Given the description of an element on the screen output the (x, y) to click on. 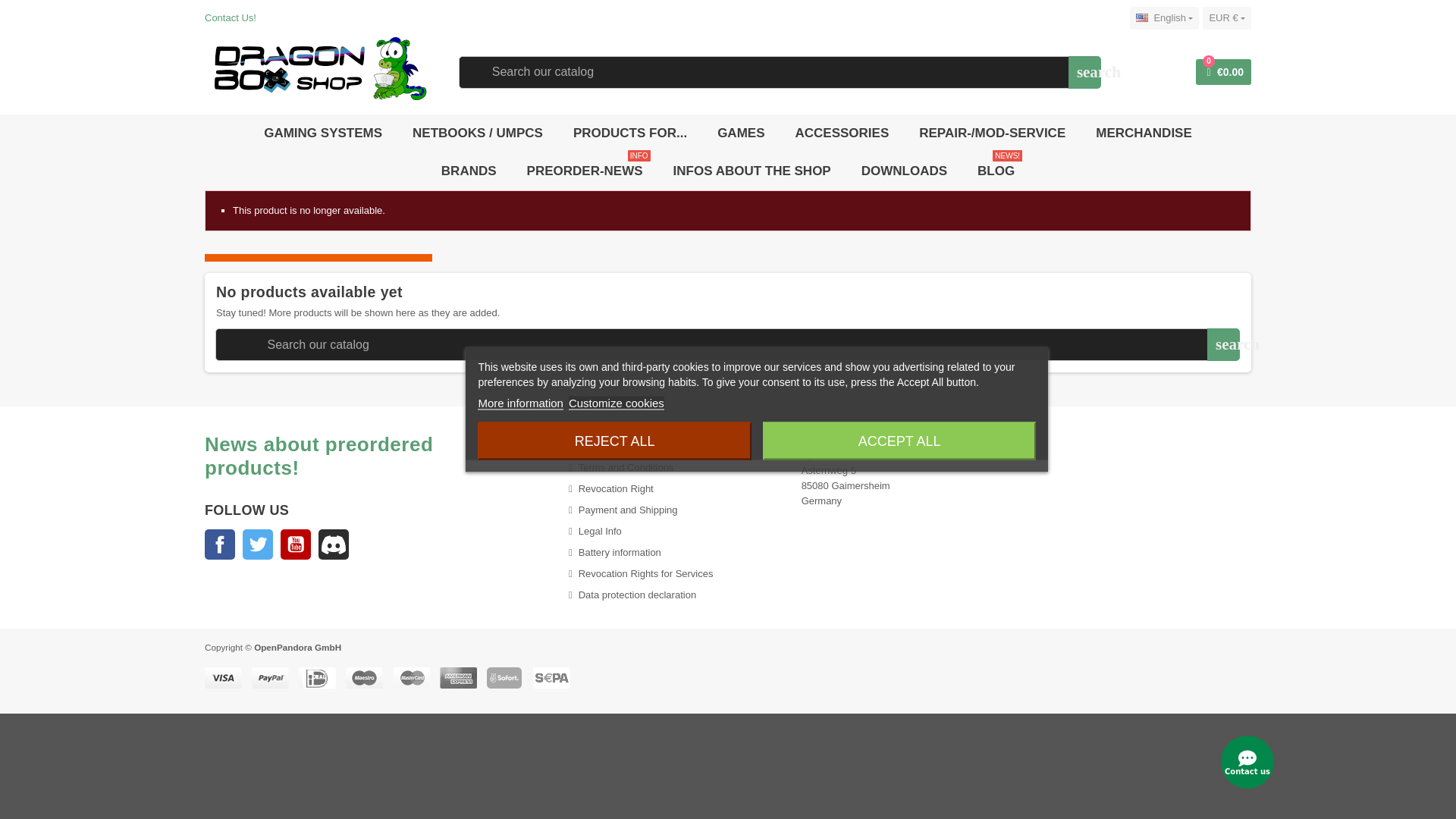
DOWNLOADS (904, 171)
Facebook (219, 544)
Twitter (258, 544)
ACCESSORIES (841, 133)
REJECT ALL (614, 440)
GAMES (741, 133)
Contact Us! (230, 17)
search (1084, 72)
DragonBox Shop (315, 70)
Terms and Conditions (620, 467)
Data protection declaration (632, 594)
Legal Info (595, 531)
Customize cookies (1148, 71)
Revocation Rights for Services (616, 402)
